Given the description of an element on the screen output the (x, y) to click on. 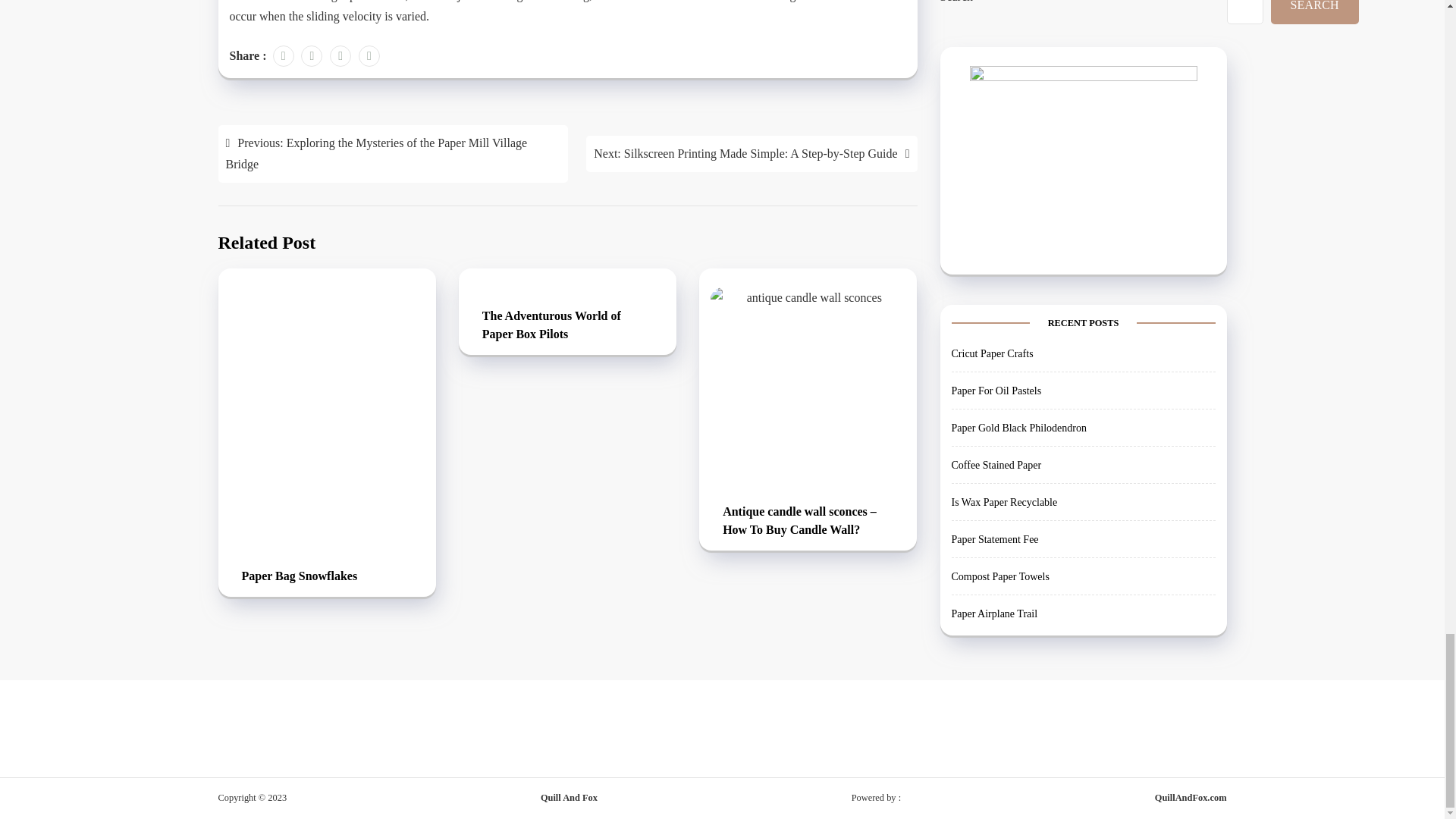
Next: Silkscreen Printing Made Simple: A Step-by-Step Guide (751, 153)
Paper Bag Snowflakes (326, 577)
The Adventurous World of Paper Box Pilots (566, 326)
